Given the description of an element on the screen output the (x, y) to click on. 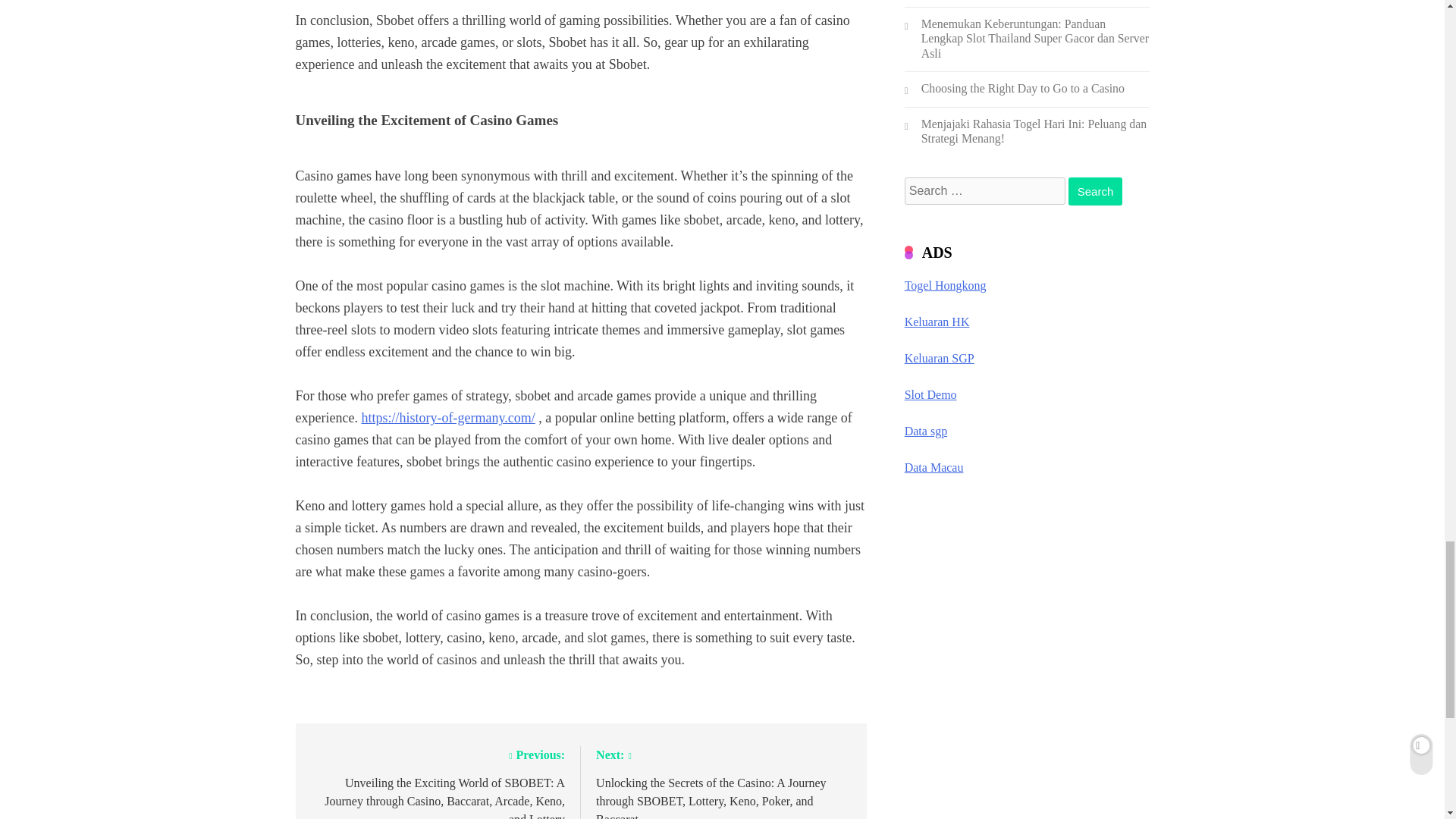
Search (1095, 191)
Search (1095, 191)
